Given the description of an element on the screen output the (x, y) to click on. 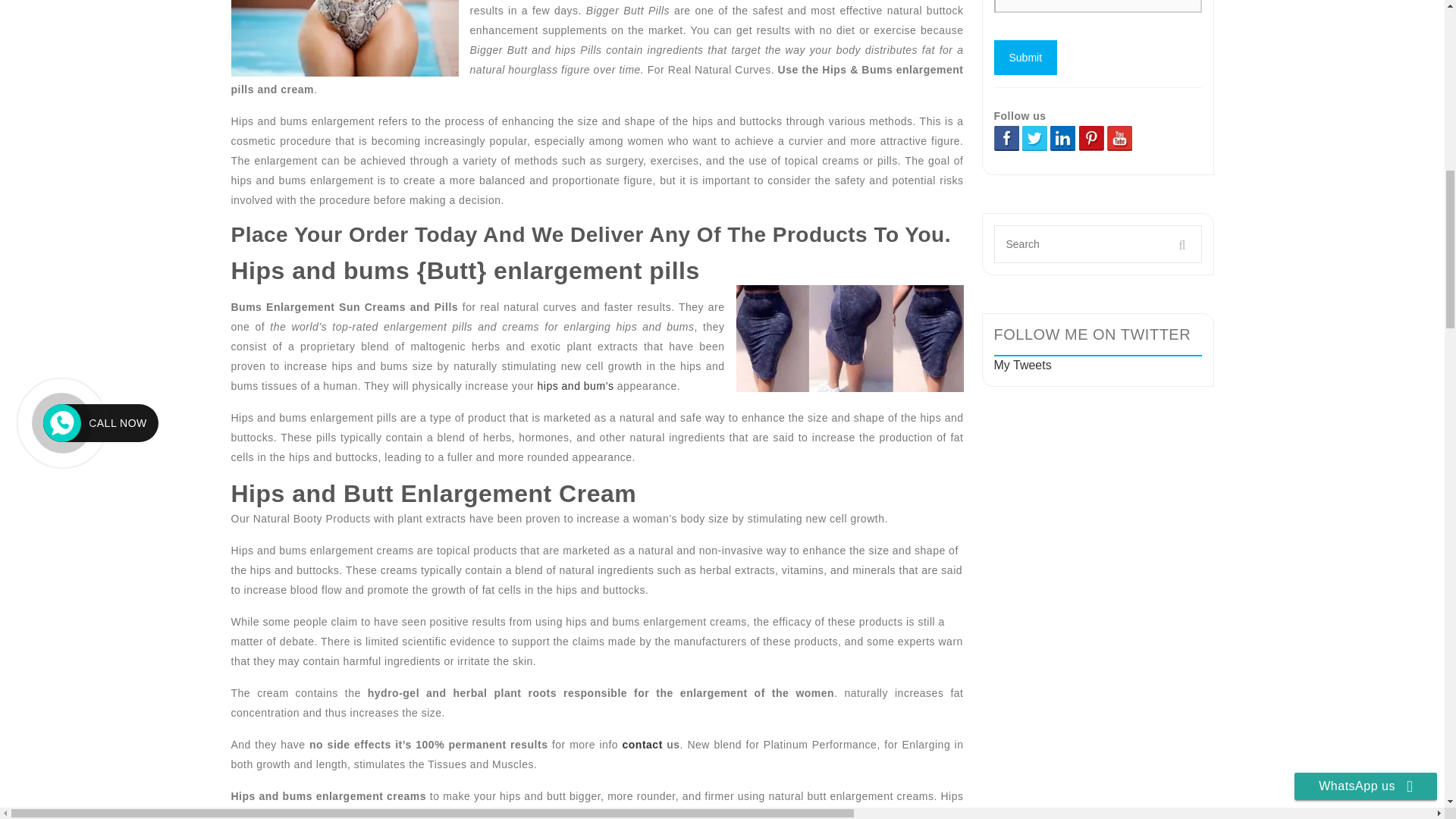
Submit (1024, 57)
